Given the description of an element on the screen output the (x, y) to click on. 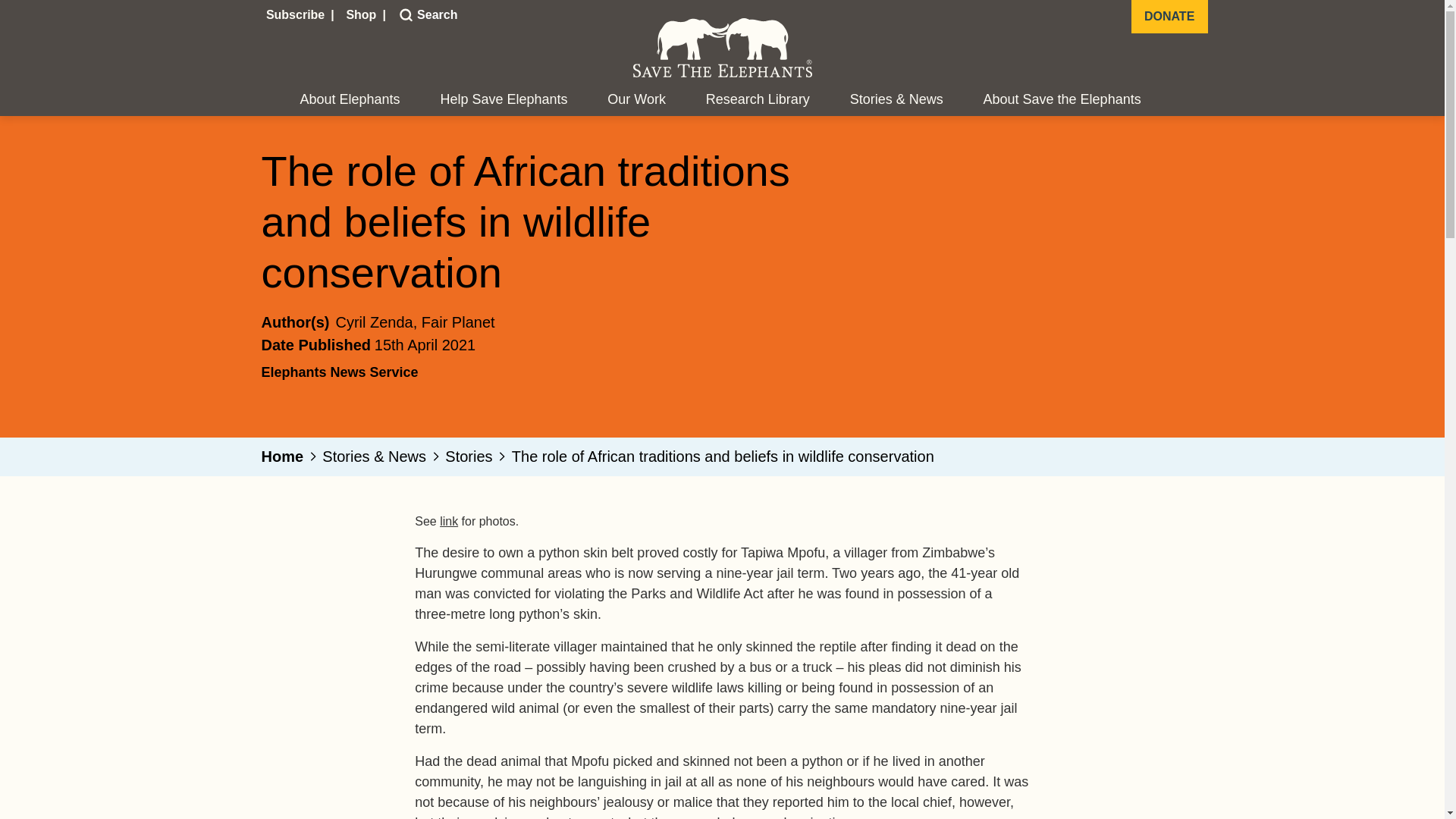
Subscribe (297, 15)
DONATE (1169, 16)
About Elephants (349, 99)
Research Library (757, 99)
Our Work (636, 99)
Help Save Elephants (503, 99)
Search submit (403, 15)
Shop (362, 15)
About Save the Elephants (1062, 99)
Save the Elephants (720, 47)
